Given the description of an element on the screen output the (x, y) to click on. 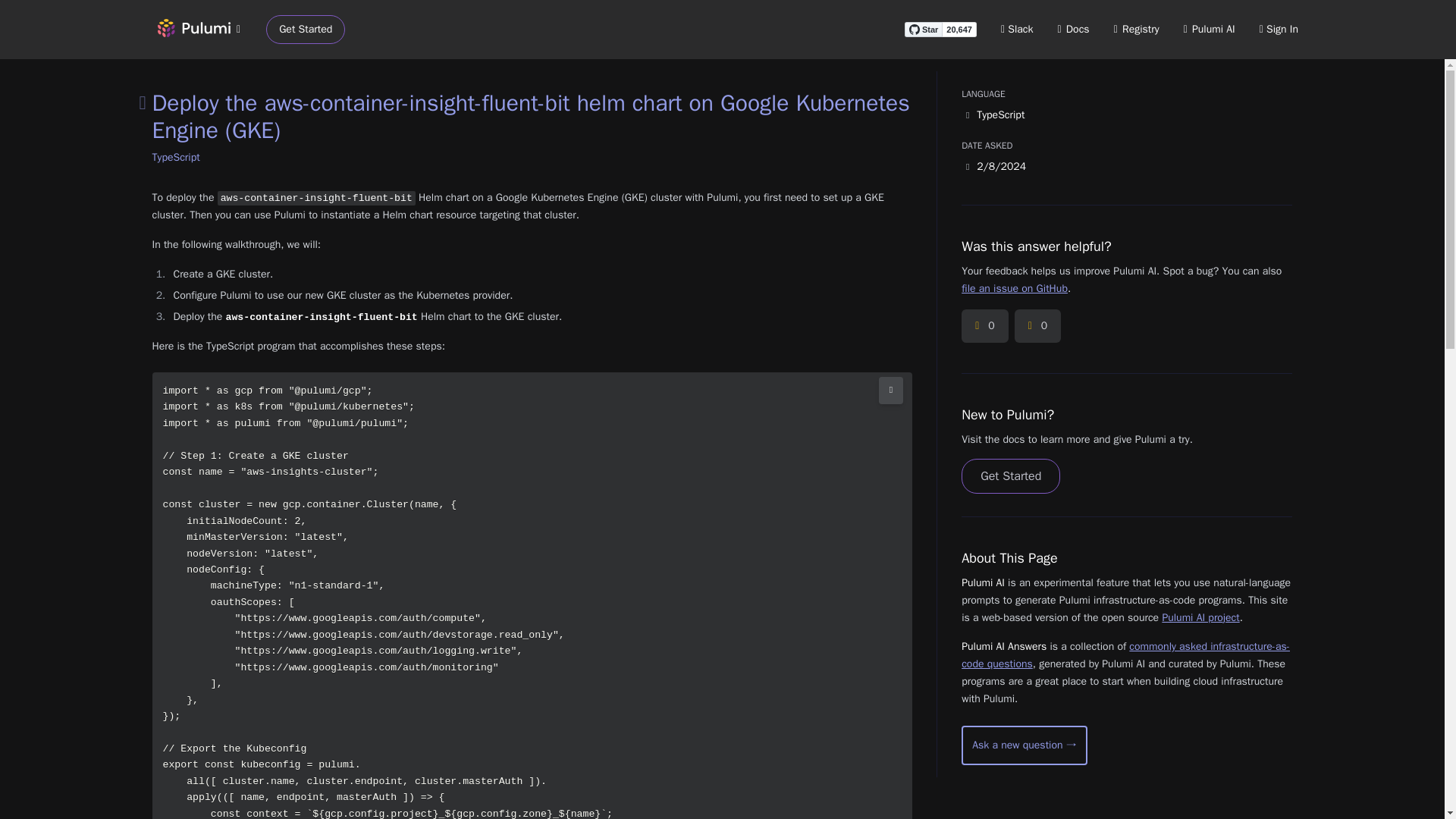
file an issue on GitHub (1013, 287)
0 (1037, 326)
Sign In (1278, 29)
Downvote this answer (1037, 326)
Registry (1135, 29)
Pulumi AI (1208, 29)
Start a new conversation with Pulumi AI (1023, 744)
20,647 (959, 29)
Docs (1073, 29)
Get Started (305, 29)
 Star (923, 29)
Upvote this answer (984, 326)
Slack (1017, 29)
0 (984, 326)
